Given the description of an element on the screen output the (x, y) to click on. 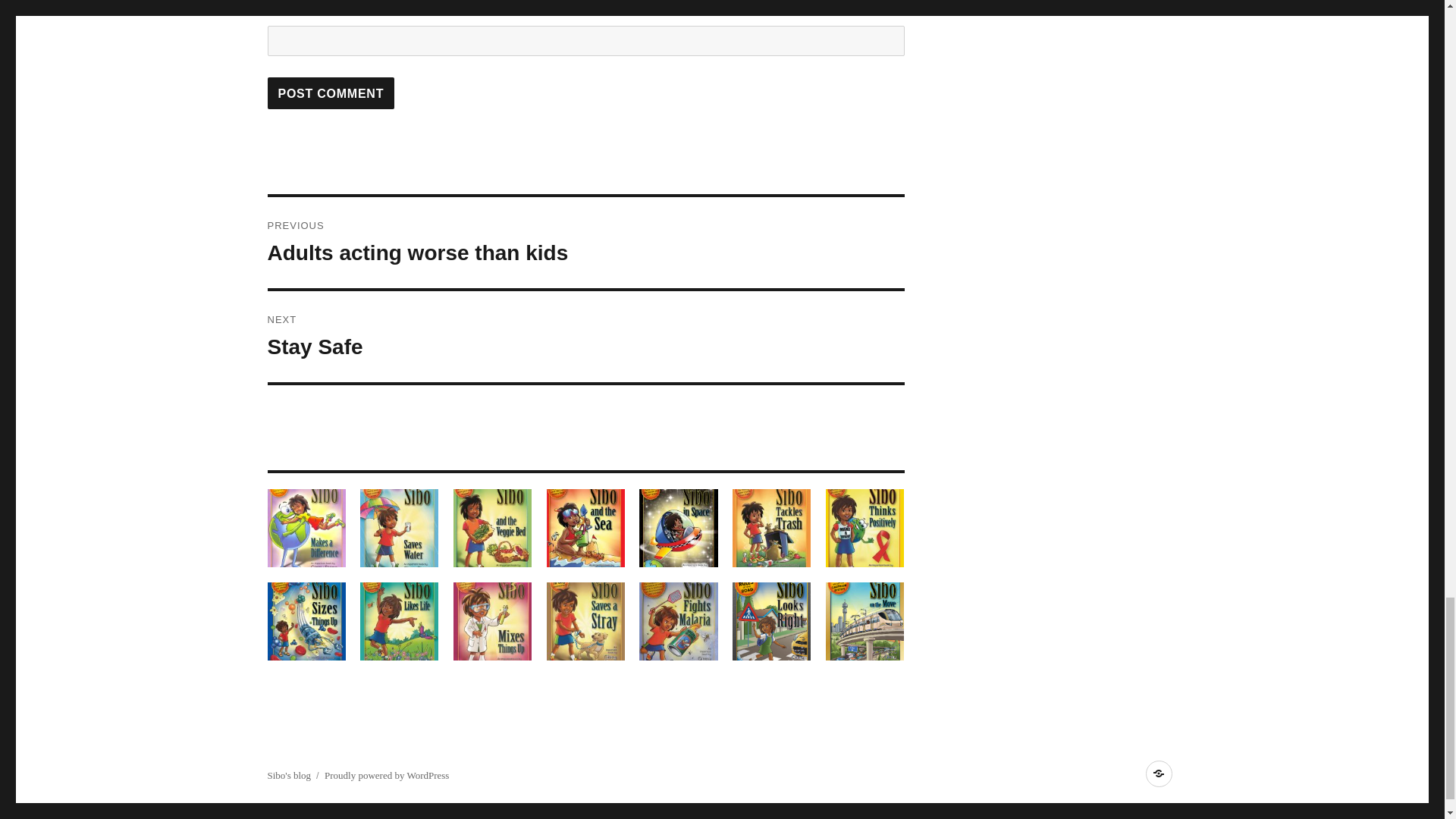
Post Comment (330, 92)
Post Comment (330, 92)
